Given the description of an element on the screen output the (x, y) to click on. 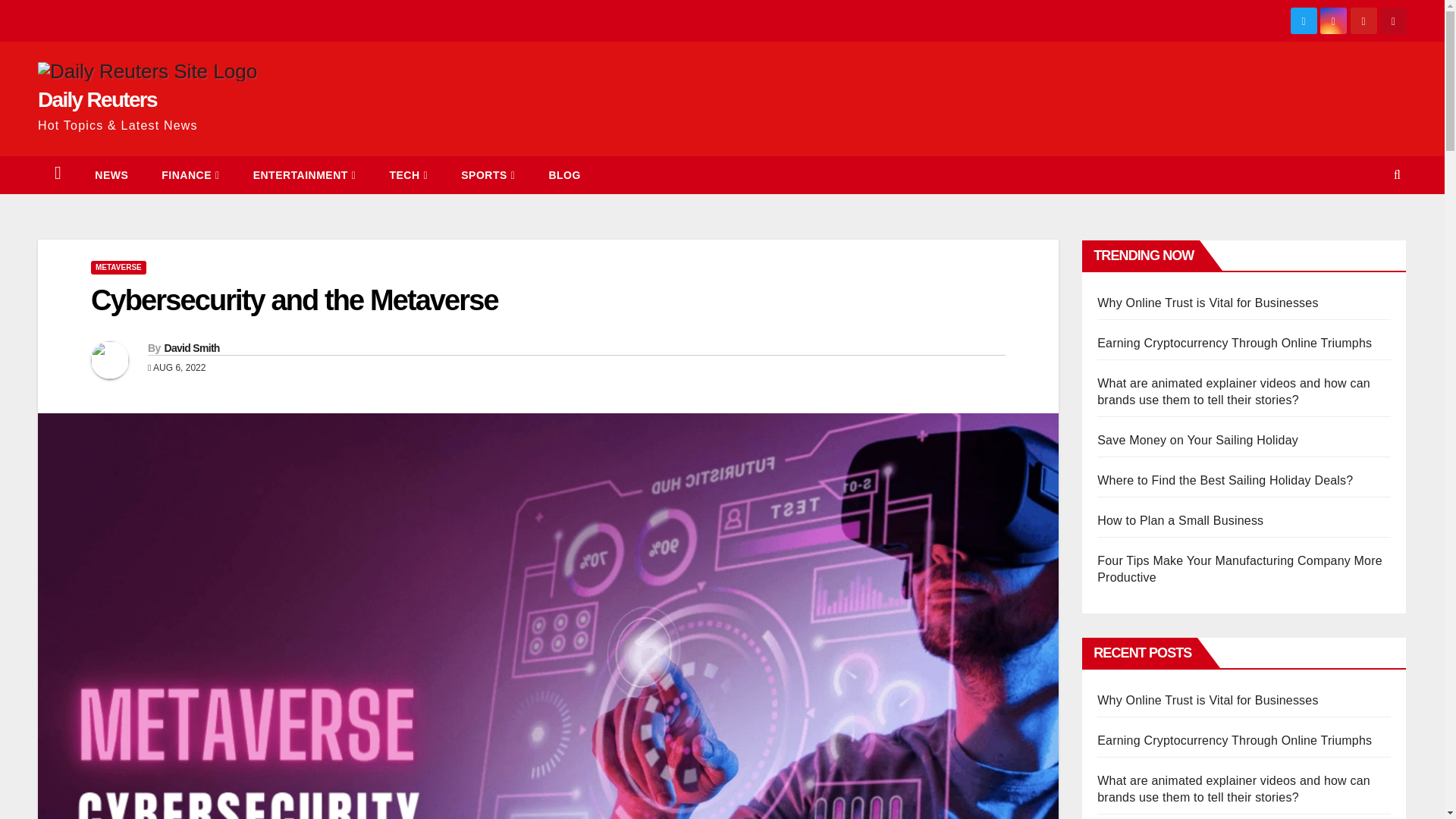
BLOG (563, 175)
SPORTS (487, 175)
Cybersecurity and the Metaverse (293, 300)
Daily Reuters (97, 99)
FINANCE (189, 175)
TECH (408, 175)
NEWS (111, 175)
METAVERSE (118, 267)
David Smith (191, 347)
ENTERTAINMENT (303, 175)
